Given the description of an element on the screen output the (x, y) to click on. 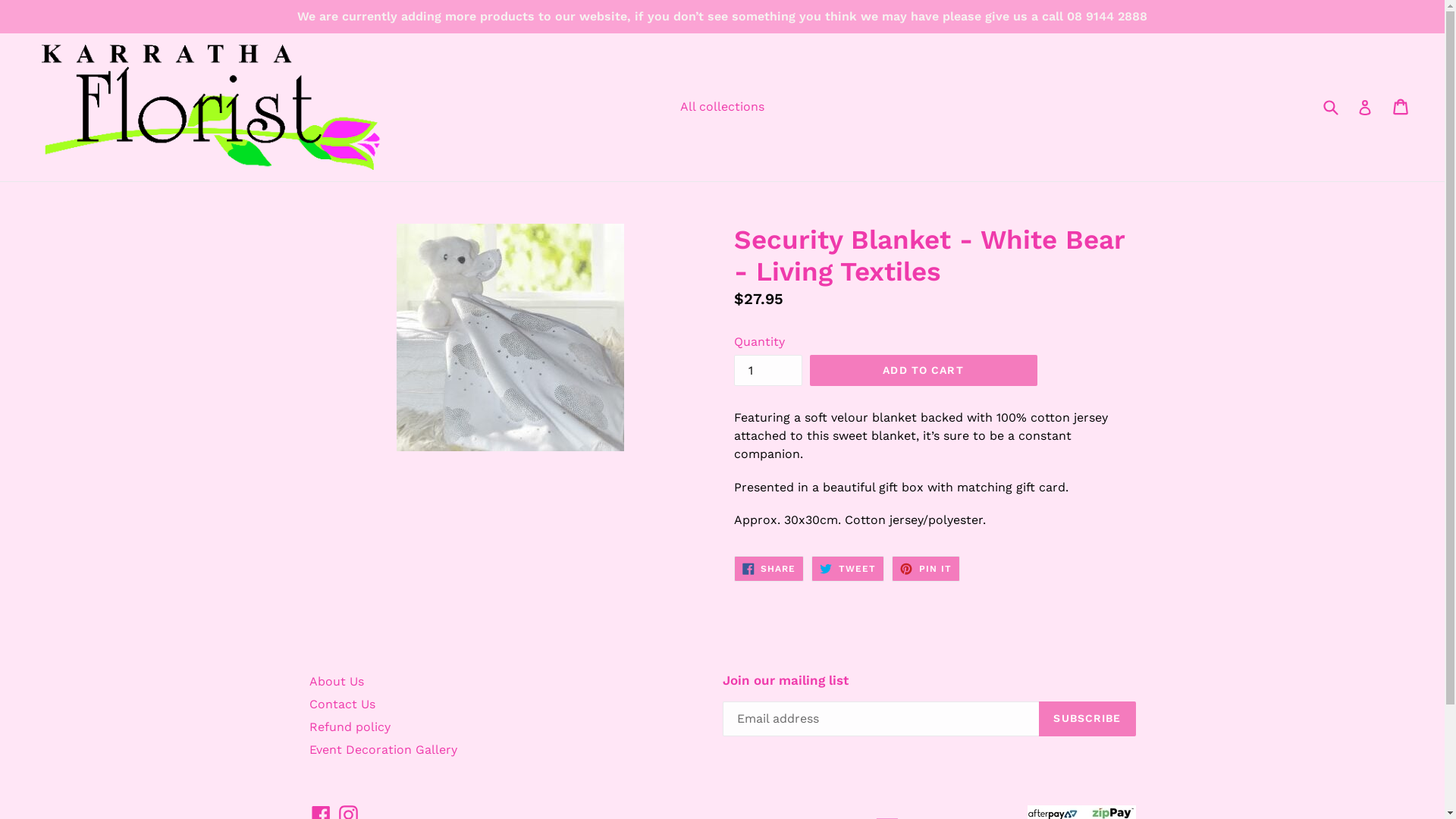
Cart
Cart Element type: text (1401, 106)
All collections Element type: text (721, 106)
Event Decoration Gallery Element type: text (383, 749)
TWEET
TWEET ON TWITTER Element type: text (847, 568)
Log in Element type: text (1364, 106)
ADD TO CART Element type: text (923, 369)
About Us Element type: text (336, 681)
Refund policy Element type: text (349, 726)
Submit Element type: text (1329, 106)
SHARE
SHARE ON FACEBOOK Element type: text (769, 568)
PIN IT
PIN ON PINTEREST Element type: text (925, 568)
SUBSCRIBE Element type: text (1086, 717)
Contact Us Element type: text (342, 703)
